Given the description of an element on the screen output the (x, y) to click on. 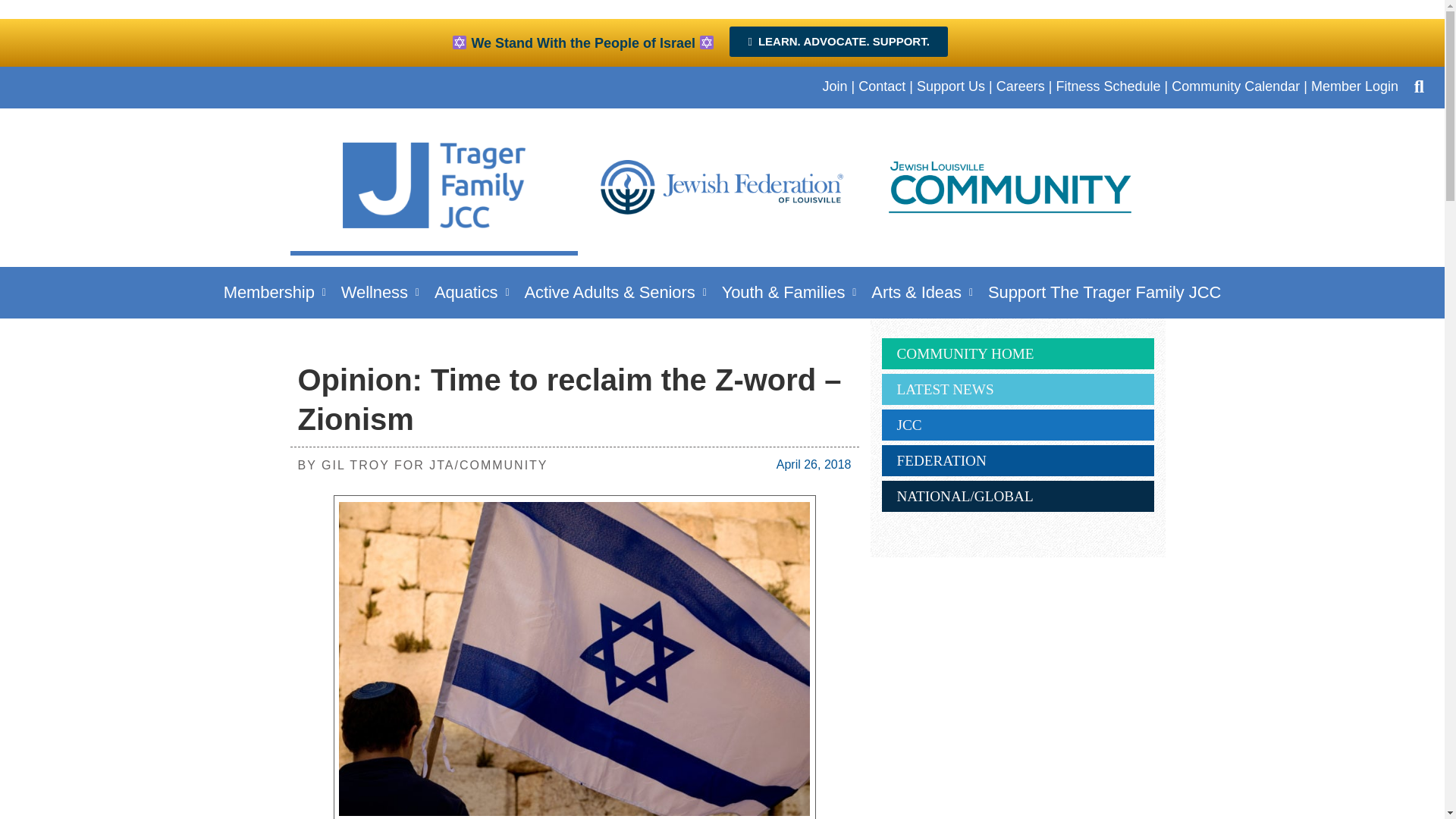
12:11 pm (813, 464)
Contact (882, 86)
LEARN. ADVOCATE. SUPPORT. (838, 41)
Member Login (1354, 86)
Fitness Schedule (1107, 86)
Careers (1020, 86)
Support Us (951, 86)
Community Calendar (1236, 86)
Join (834, 86)
Membership (274, 292)
Aquatics (471, 292)
Wellness (379, 292)
